Given the description of an element on the screen output the (x, y) to click on. 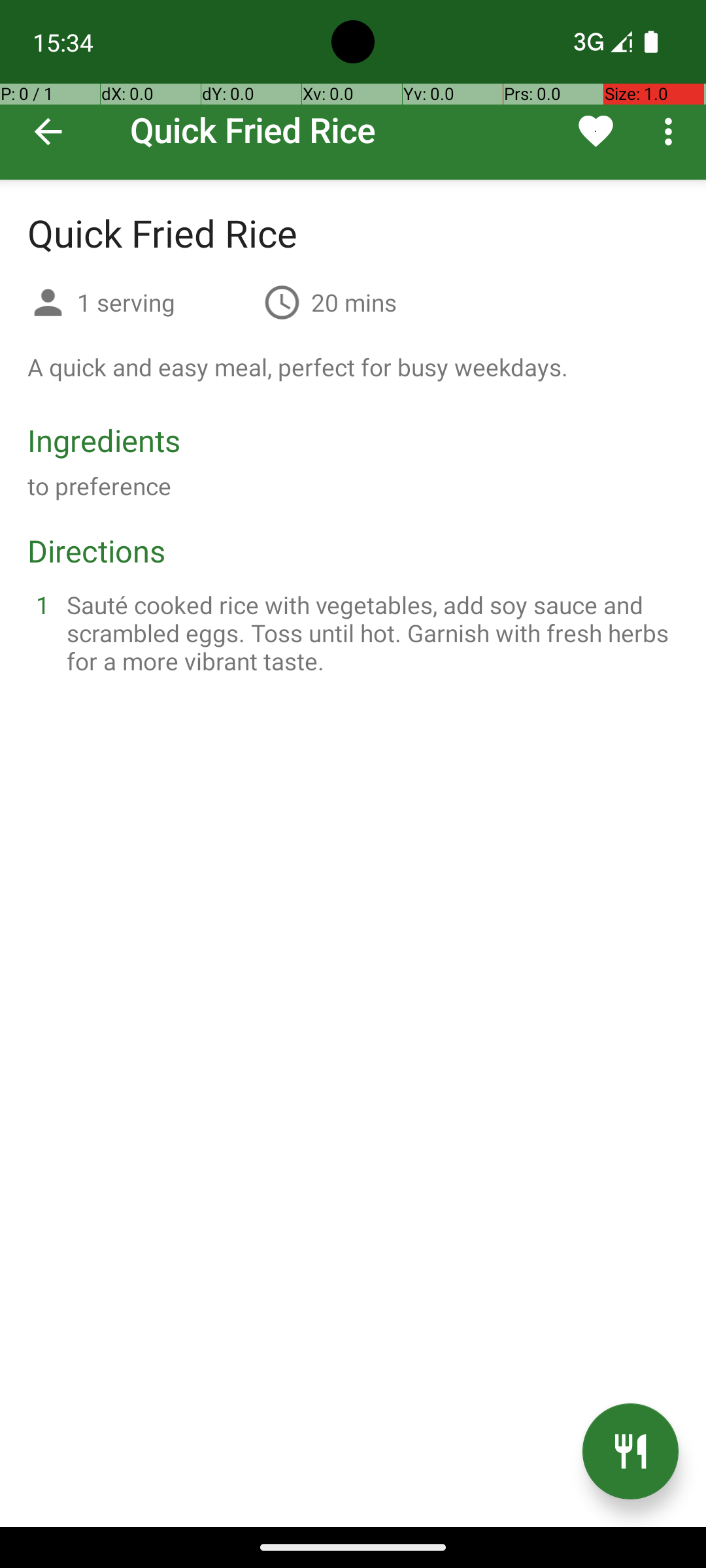
Quick Fried Rice Element type: android.widget.FrameLayout (353, 89)
20 mins Element type: android.widget.TextView (353, 301)
Sauté cooked rice with vegetables, add soy sauce and scrambled eggs. Toss until hot. Garnish with fresh herbs for a more vibrant taste. Element type: android.widget.TextView (368, 632)
